Given the description of an element on the screen output the (x, y) to click on. 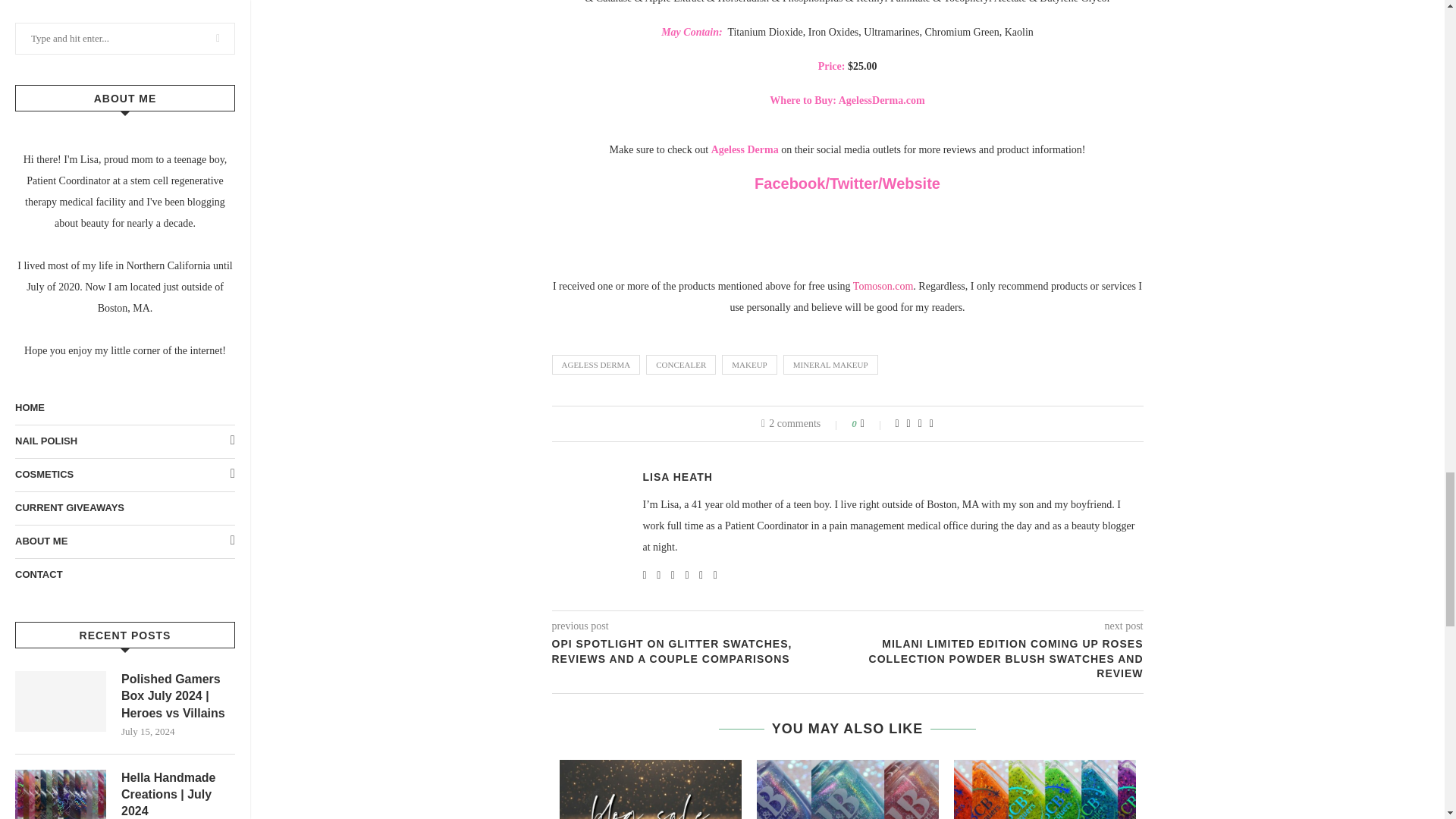
Like (872, 423)
Author Lisa Heath (678, 476)
